Given the description of an element on the screen output the (x, y) to click on. 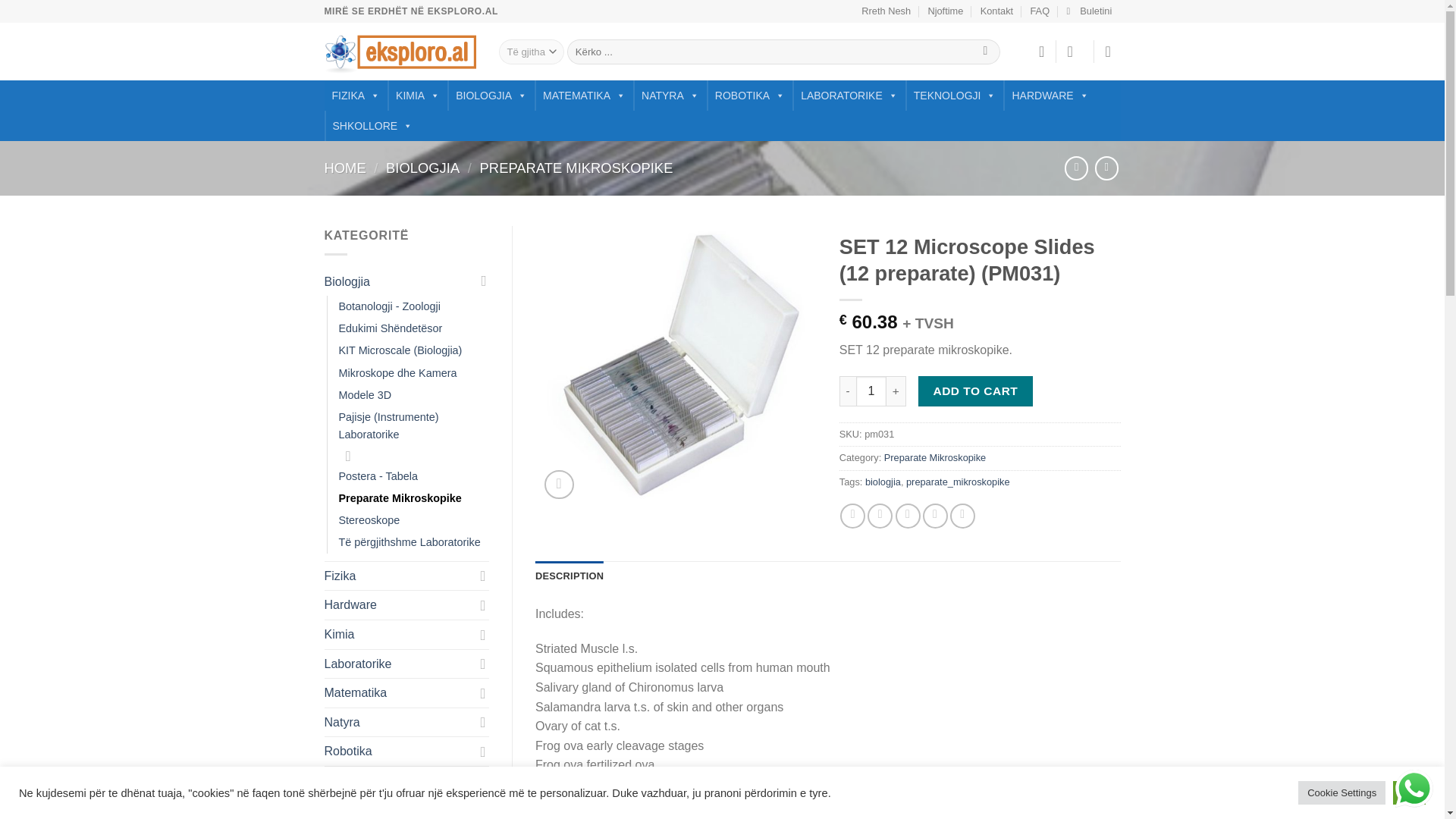
KIMIA (417, 95)
Pin on Pinterest (935, 515)
Email to a Friend (907, 515)
Share on Facebook (852, 515)
Njoftime (944, 11)
Eksploro.al - Mjete Didaktike dhe Laboratorike (400, 51)
Search (984, 52)
FIZIKA (356, 95)
Share on LinkedIn (962, 515)
Share on Twitter (879, 515)
Buletini (1088, 11)
1 (871, 390)
Rreth Nesh (886, 11)
Zoom (558, 484)
Kontakt (996, 11)
